Given the description of an element on the screen output the (x, y) to click on. 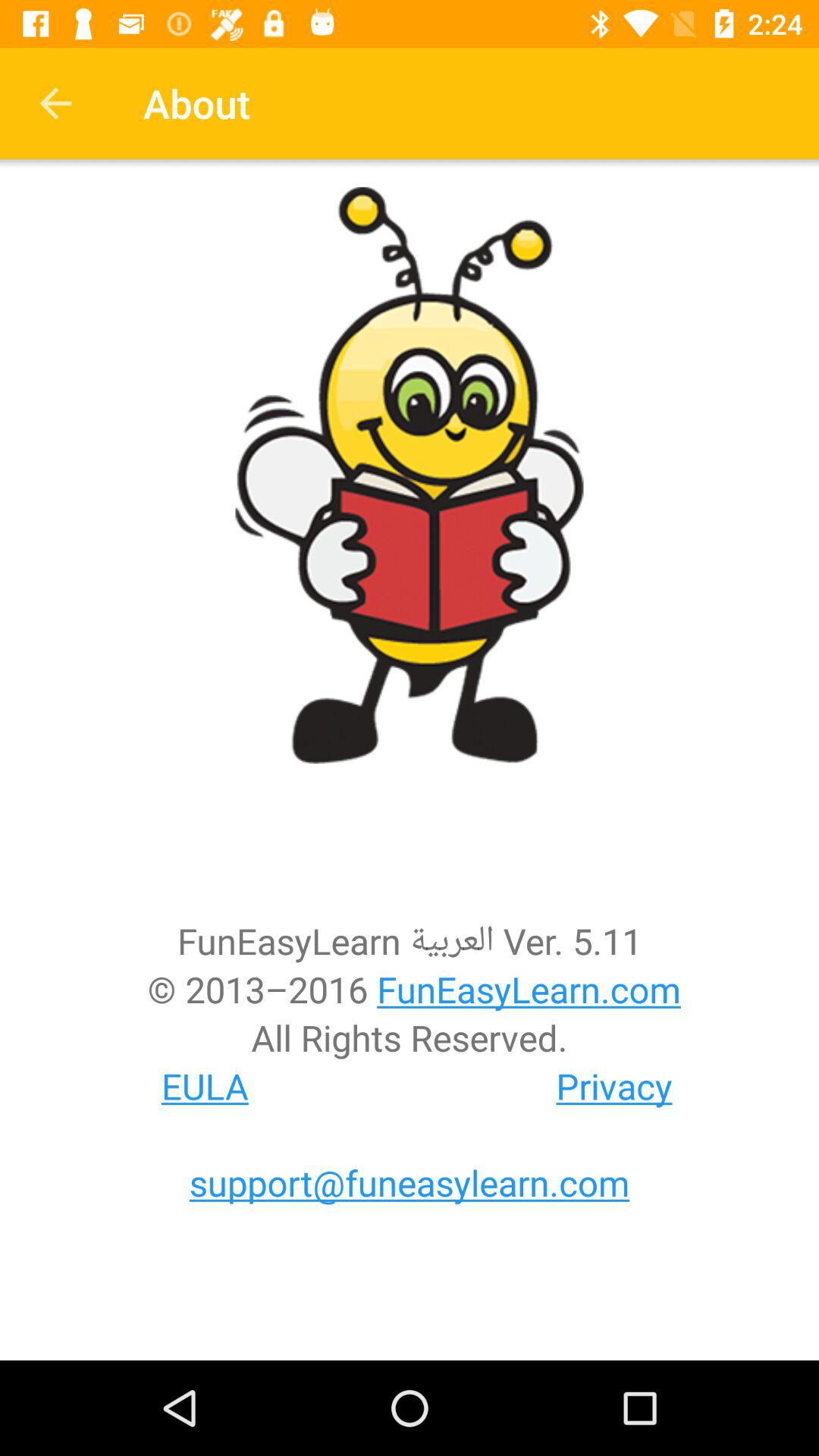
launch icon next to the eula icon (614, 1085)
